Given the description of an element on the screen output the (x, y) to click on. 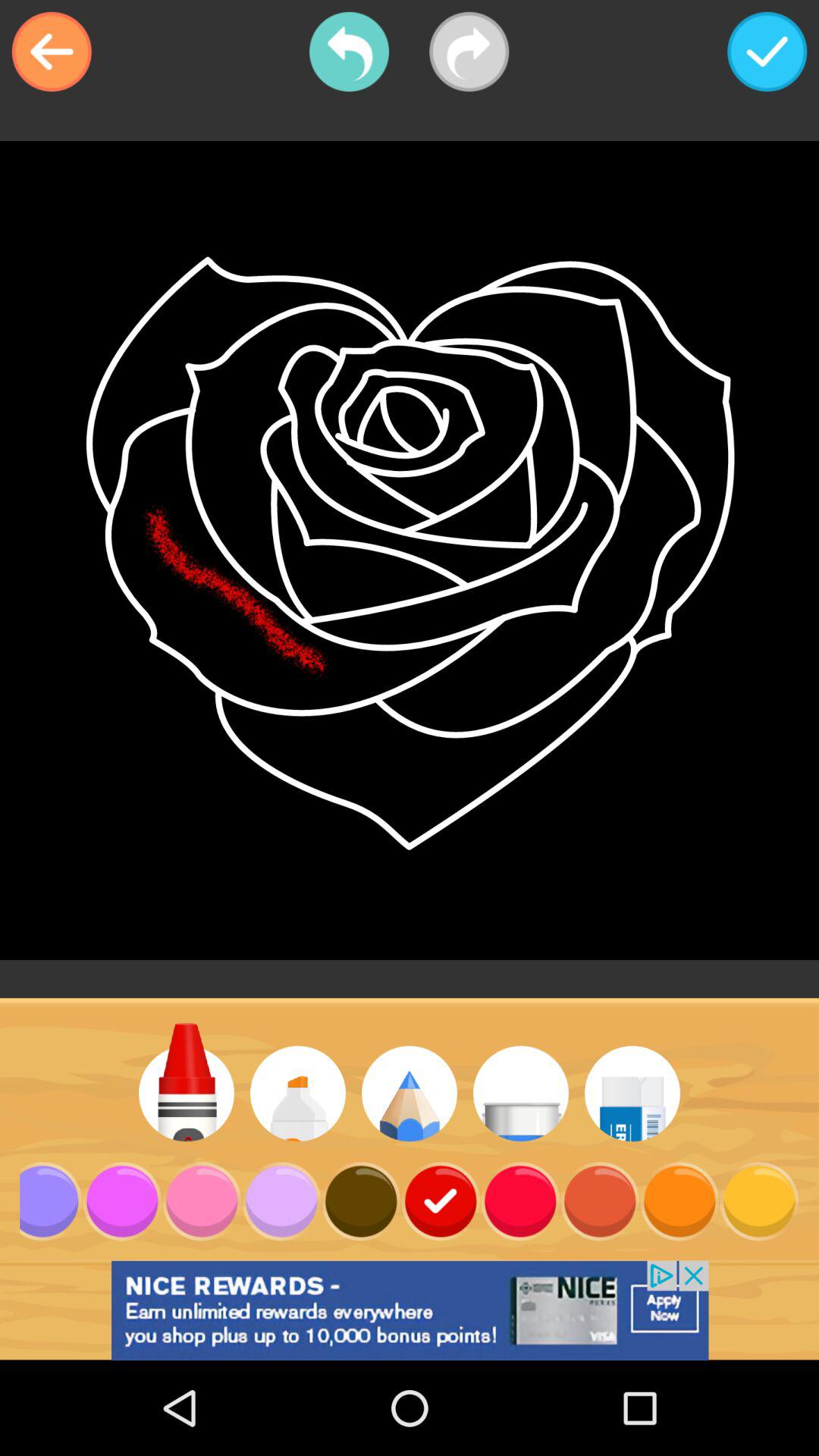
launch icon at the top left corner (51, 51)
